Given the description of an element on the screen output the (x, y) to click on. 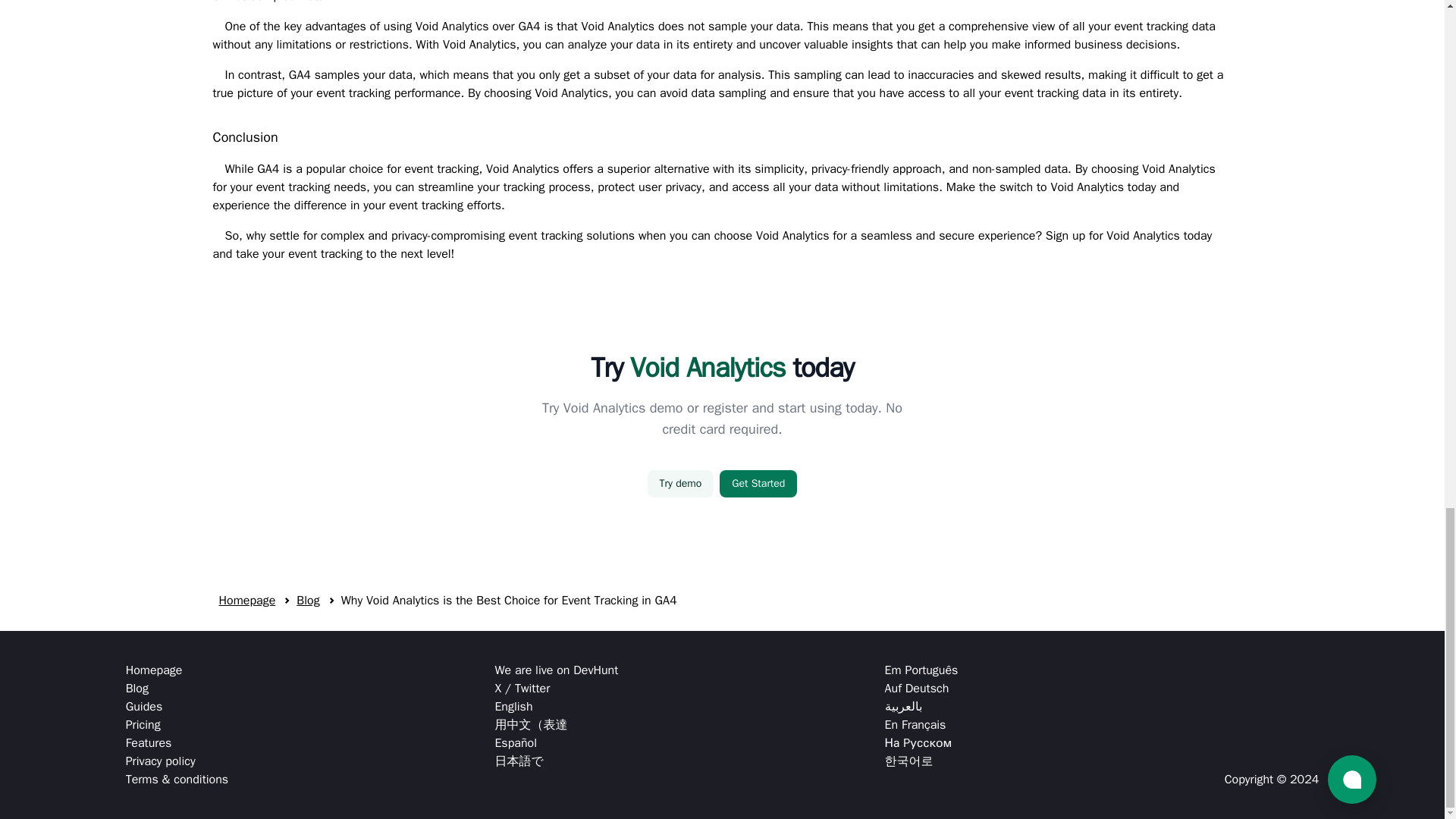
Blog (307, 600)
Blog (176, 688)
Homepage (246, 600)
Guides (176, 706)
Auf Deutsch (921, 688)
Privacy policy (176, 761)
Get Started (757, 483)
Try demo (680, 483)
Homepage (176, 669)
Pricing (176, 724)
We are live on DevHunt (556, 669)
Features (176, 742)
English (556, 706)
